Given the description of an element on the screen output the (x, y) to click on. 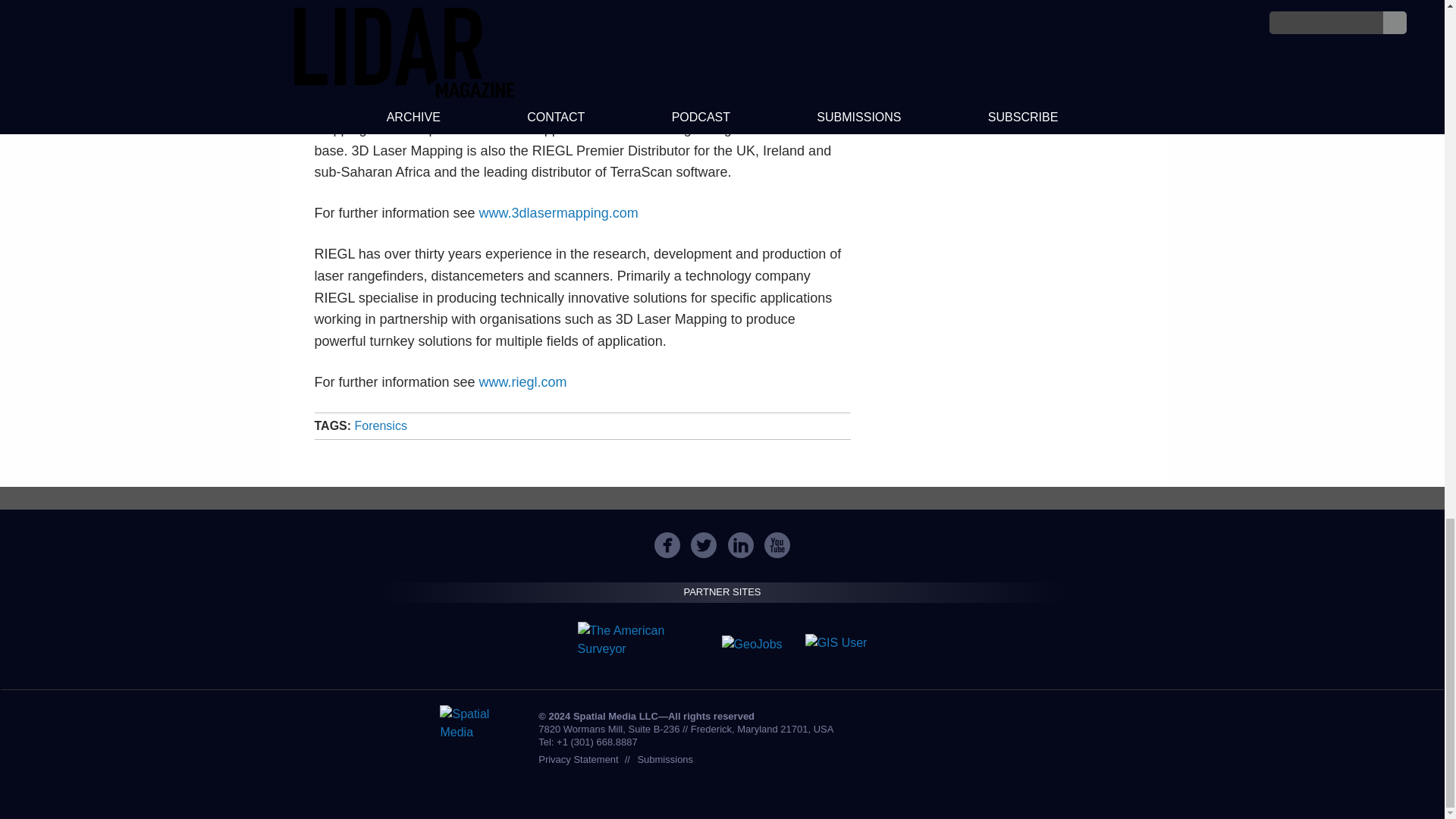
www.riegl.com (523, 381)
icon-sm-youtube (776, 544)
icon-sm-youtube (777, 544)
www.3dlasermapping.com (559, 212)
icon-sm-linkedin (741, 544)
icon-sm-fb (666, 544)
icon-sm-linkedin (740, 544)
Forensics (381, 425)
icon-sm-fb (667, 544)
icon-sm-twitter (703, 544)
